Given the description of an element on the screen output the (x, y) to click on. 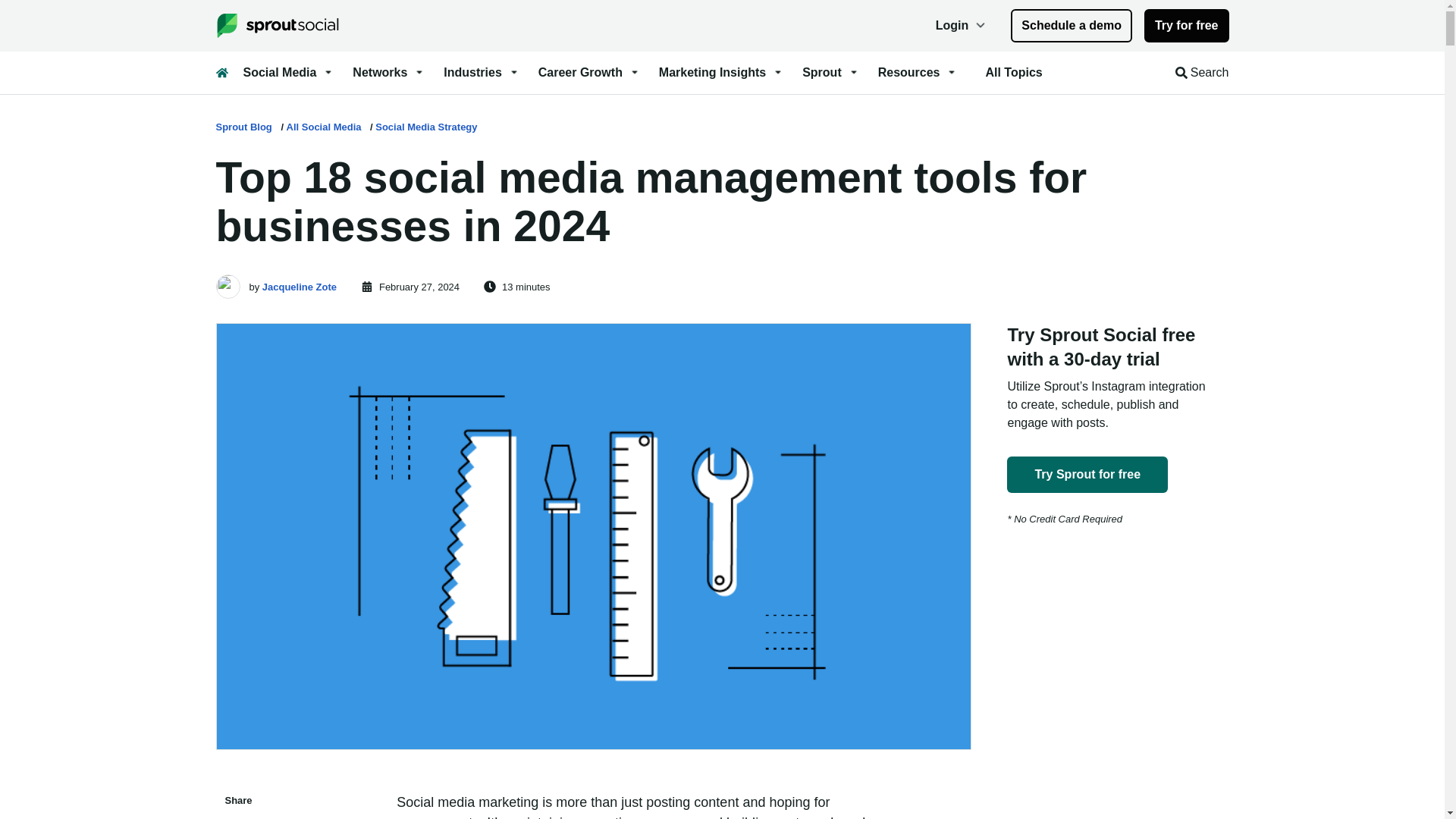
Open Career Growth menu (589, 72)
Open Login Menu (961, 25)
Try for free (1186, 25)
Blog Home (221, 72)
Login (961, 25)
Open Social Media menu (288, 72)
Open Resources menu (917, 72)
Social Media (288, 72)
Open Sprout menu (831, 72)
Open Industries menu (481, 72)
